Given the description of an element on the screen output the (x, y) to click on. 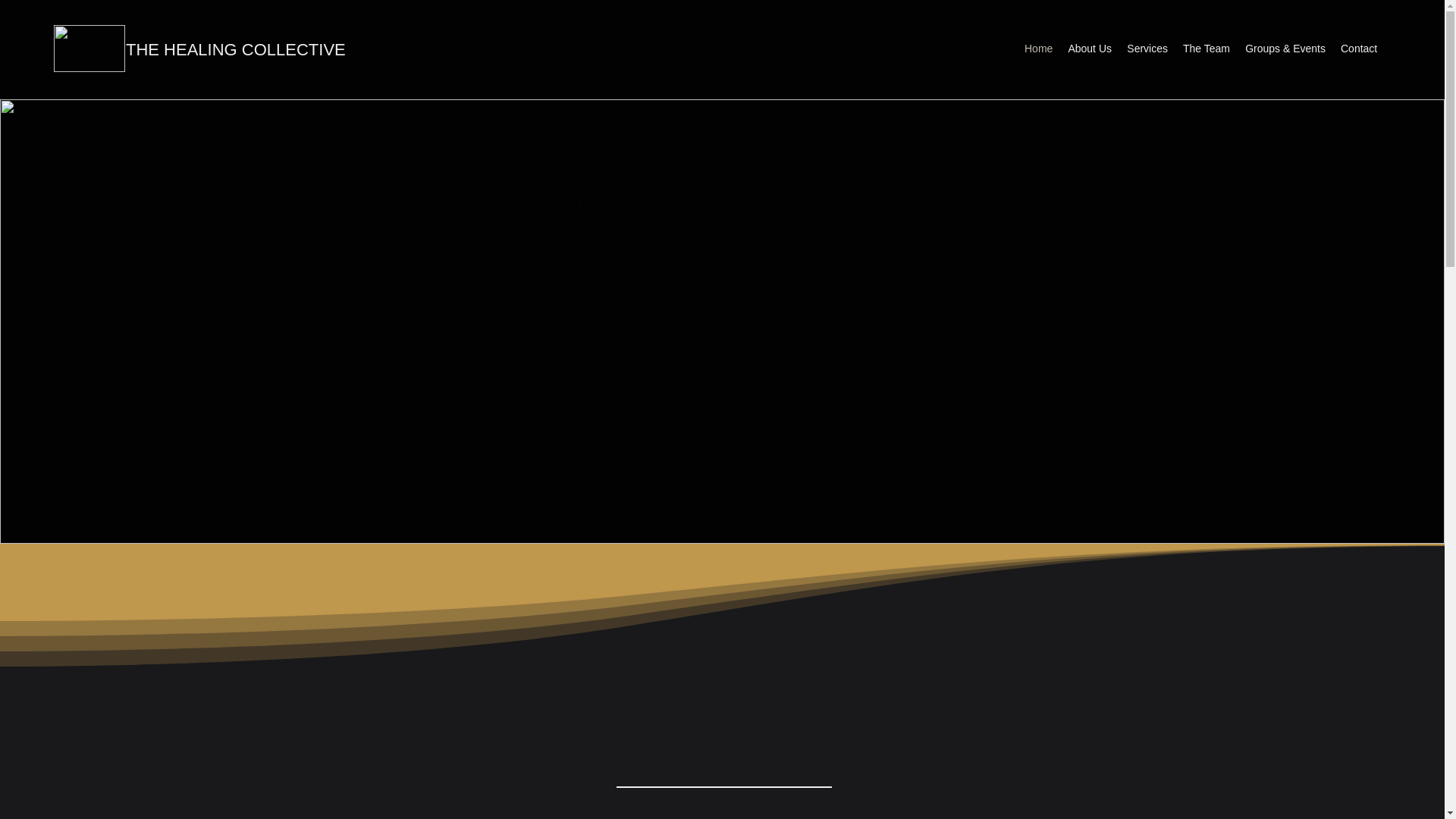
Contact (1358, 47)
Final Healing Collective Logo.png (89, 48)
THE HEALING COLLECTIVE (235, 49)
Services (1146, 47)
About Us (1089, 47)
The Team (1205, 47)
Home (1037, 47)
